Given the description of an element on the screen output the (x, y) to click on. 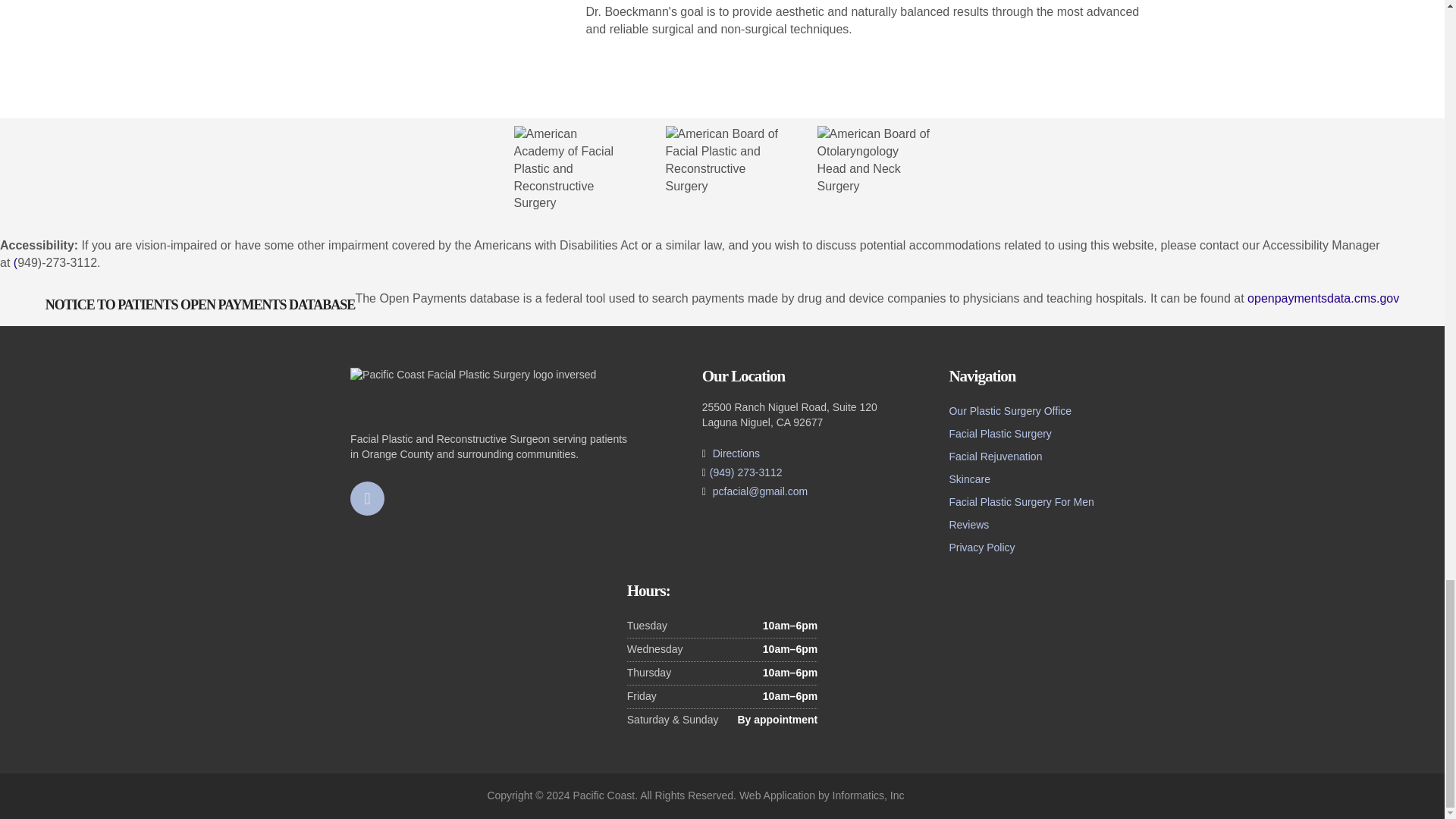
Instagram (367, 498)
